Given the description of an element on the screen output the (x, y) to click on. 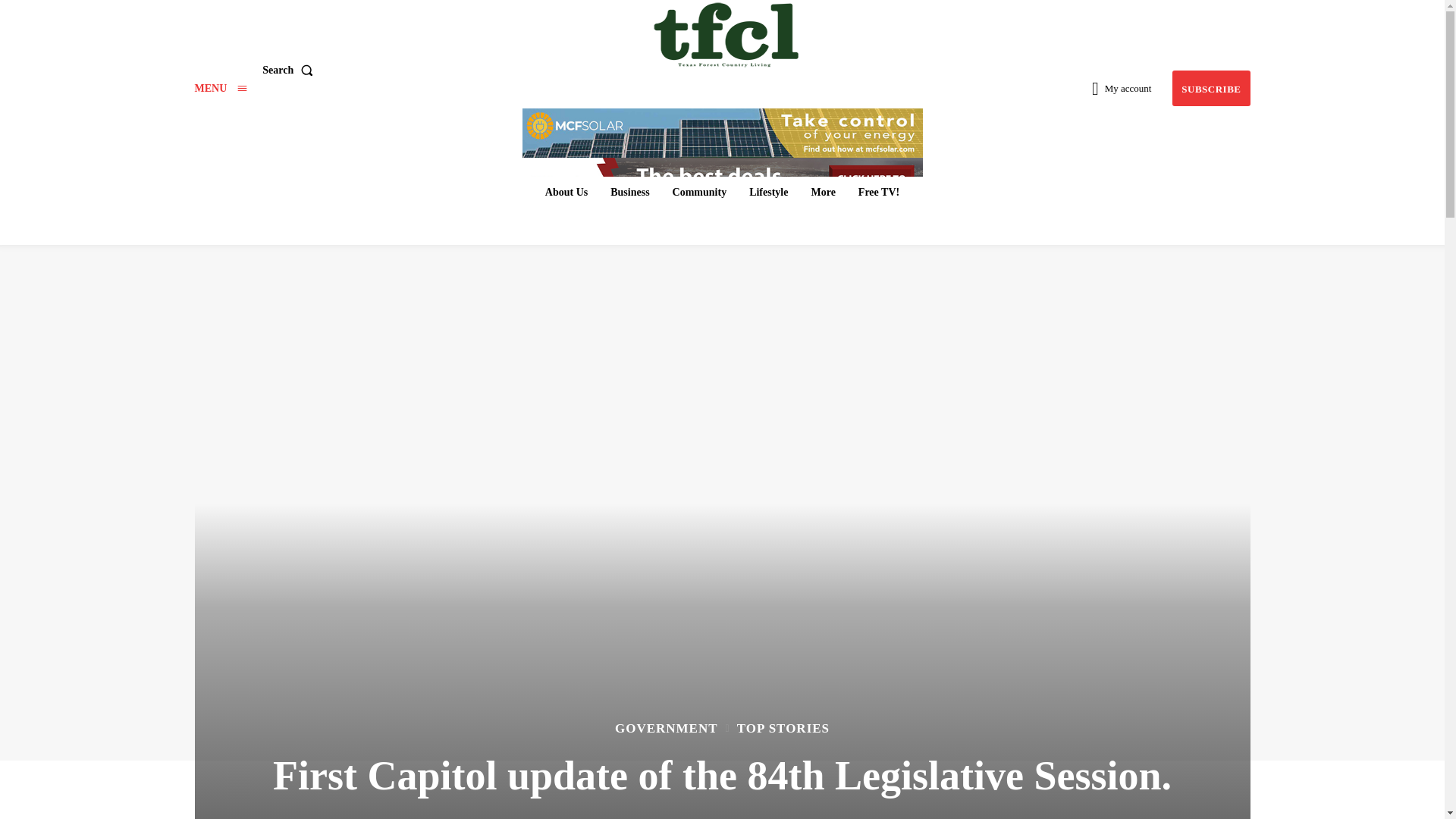
Menu (220, 88)
About Us (566, 192)
MENU (220, 88)
Search (290, 70)
Subscribe (1210, 88)
SUBSCRIBE (1210, 88)
